Given the description of an element on the screen output the (x, y) to click on. 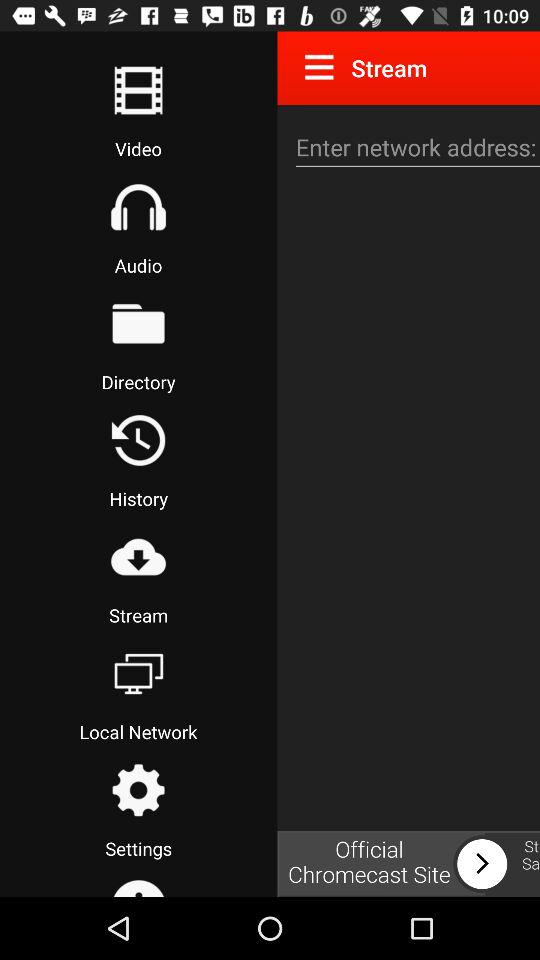
ip adress (415, 147)
